Given the description of an element on the screen output the (x, y) to click on. 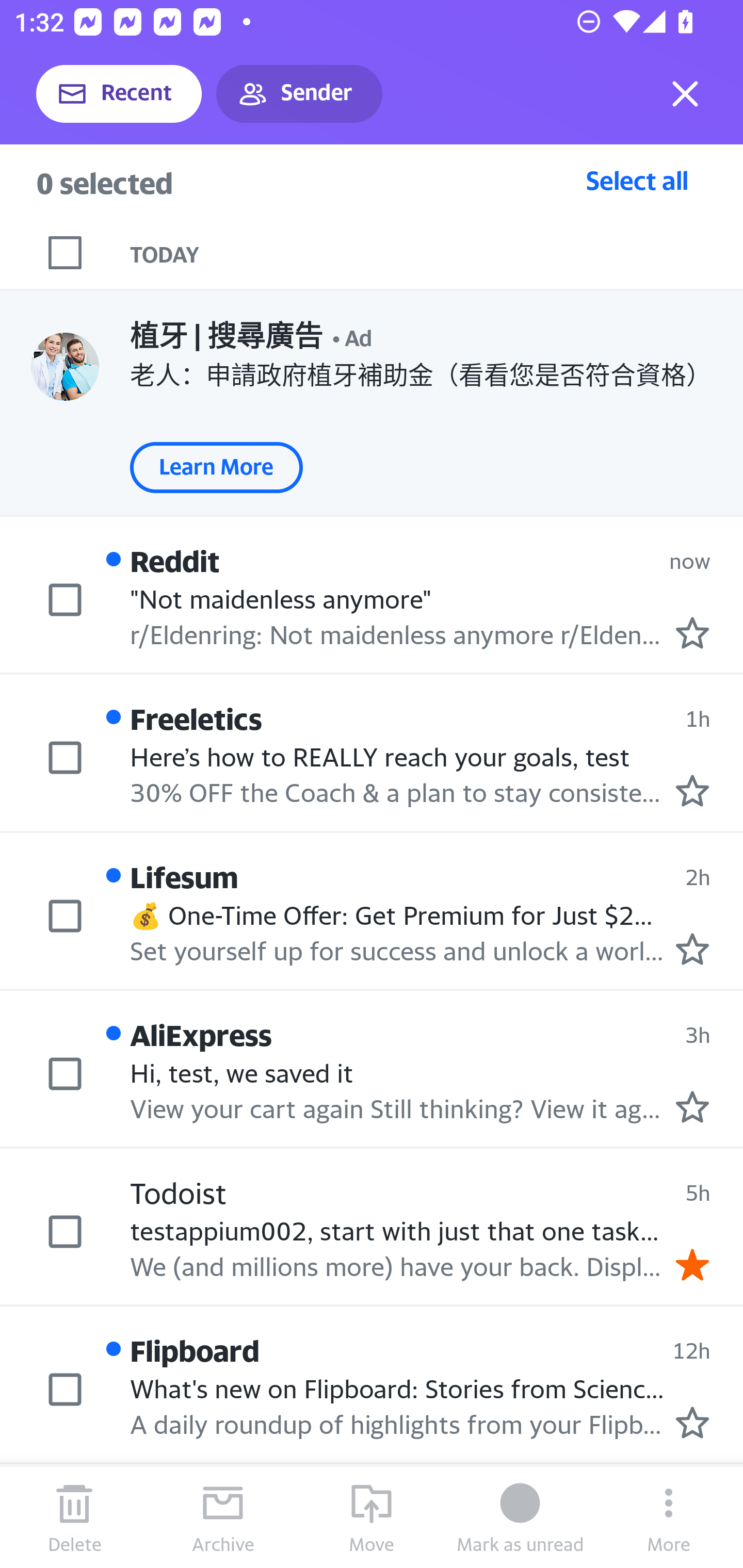
Sender (299, 93)
Exit selection mode (684, 93)
Select all (637, 180)
TODAY (436, 252)
Mark as starred. (692, 632)
Mark as starred. (692, 791)
Mark as starred. (692, 949)
Mark as starred. (692, 1106)
Remove star. (692, 1264)
Mark as starred. (692, 1422)
Delete (74, 1517)
Archive (222, 1517)
Move (371, 1517)
Mark as unread (519, 1517)
More (668, 1517)
